Given the description of an element on the screen output the (x, y) to click on. 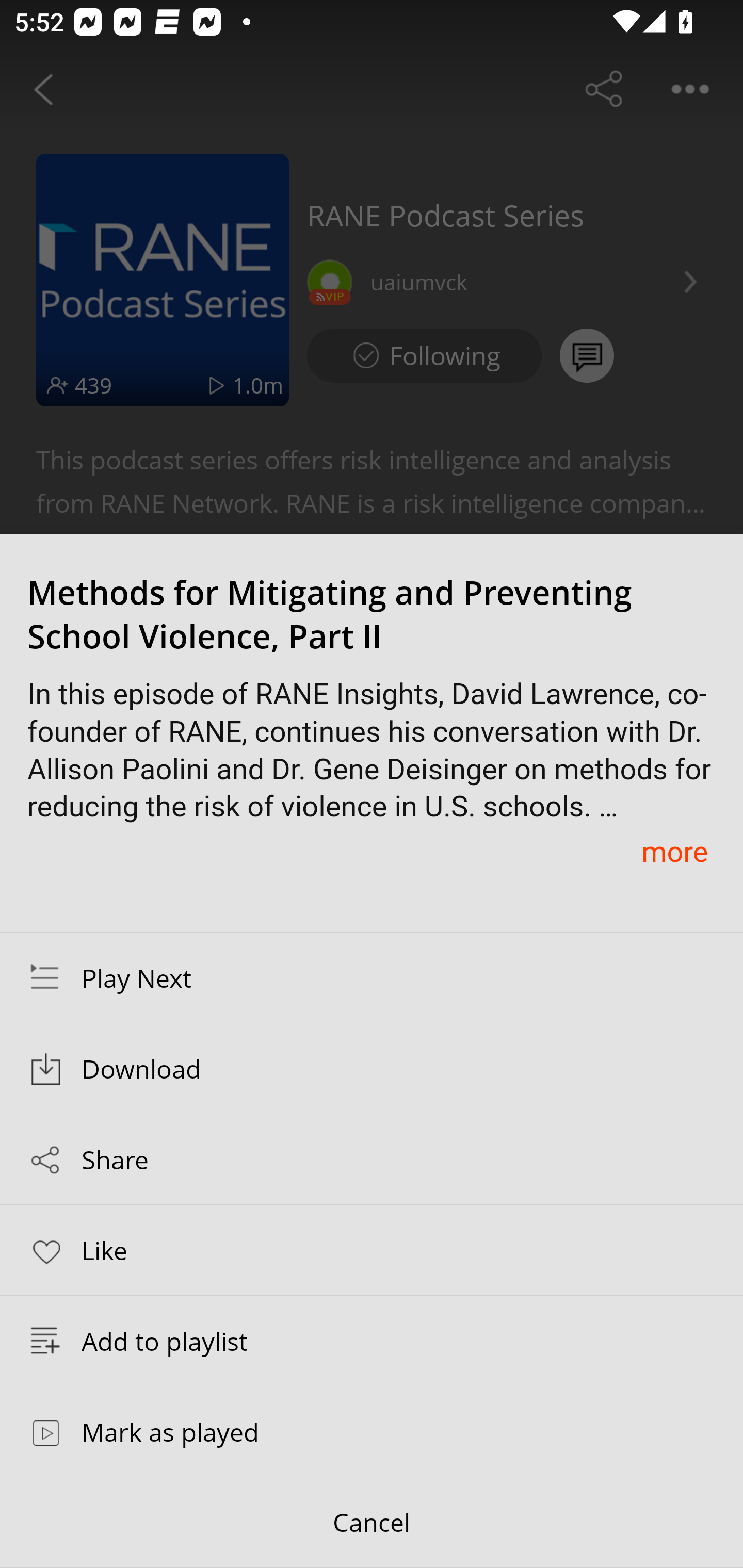
more (674, 851)
Play Next (371, 977)
Download (371, 1068)
Share (371, 1159)
Like (371, 1249)
Add to playlist (371, 1340)
Mark as played (371, 1431)
Cancel (371, 1522)
